Given the description of an element on the screen output the (x, y) to click on. 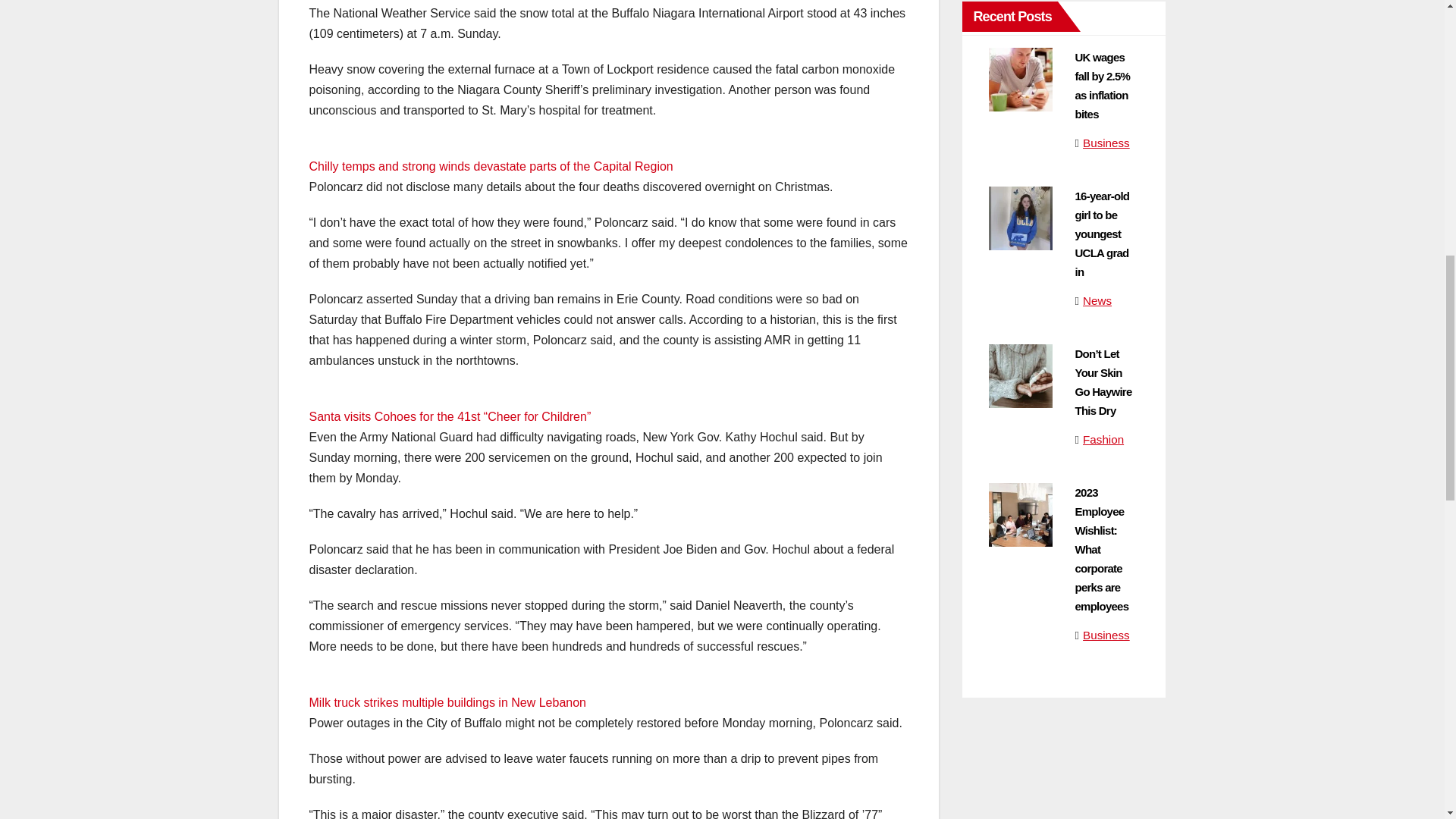
16-year-old girl to be youngest UCLA grad in (1102, 233)
Milk truck strikes multiple buildings in New Lebanon (447, 712)
News (1097, 300)
Business (1106, 142)
